Given the description of an element on the screen output the (x, y) to click on. 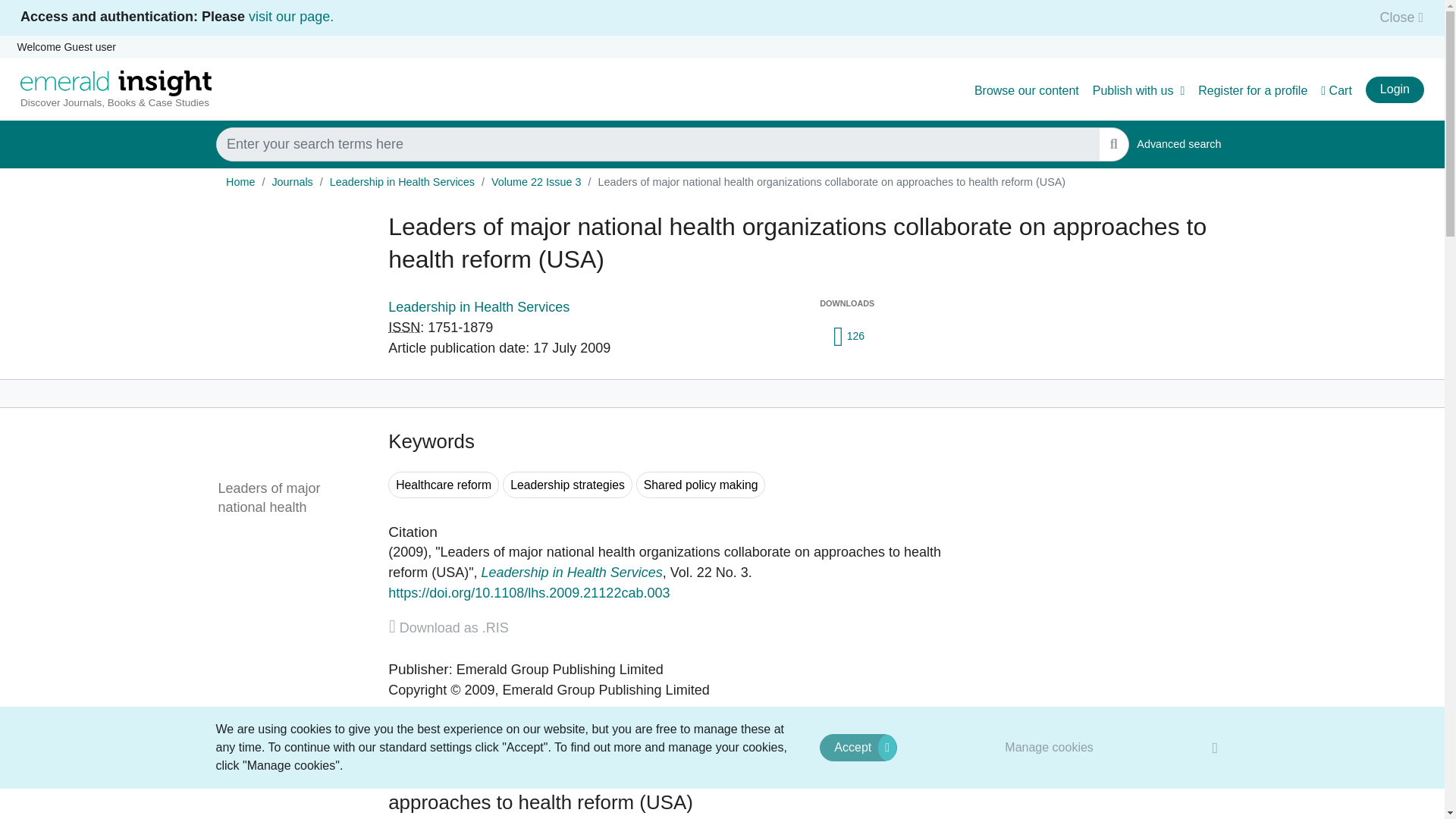
Search for keyword Leadership strategies (566, 484)
Browse our content (1026, 90)
Accept (857, 747)
SUBMIT (1113, 143)
Close (1397, 17)
Search for keyword Shared policy making (700, 484)
International Standard Serial Number. (404, 327)
Home (239, 182)
Manage cookies (1049, 747)
Search for keyword Healthcare reform (443, 484)
Cart (1336, 90)
Register for a profile (1252, 90)
Login (1394, 89)
visit our page. (290, 16)
